Given the description of an element on the screen output the (x, y) to click on. 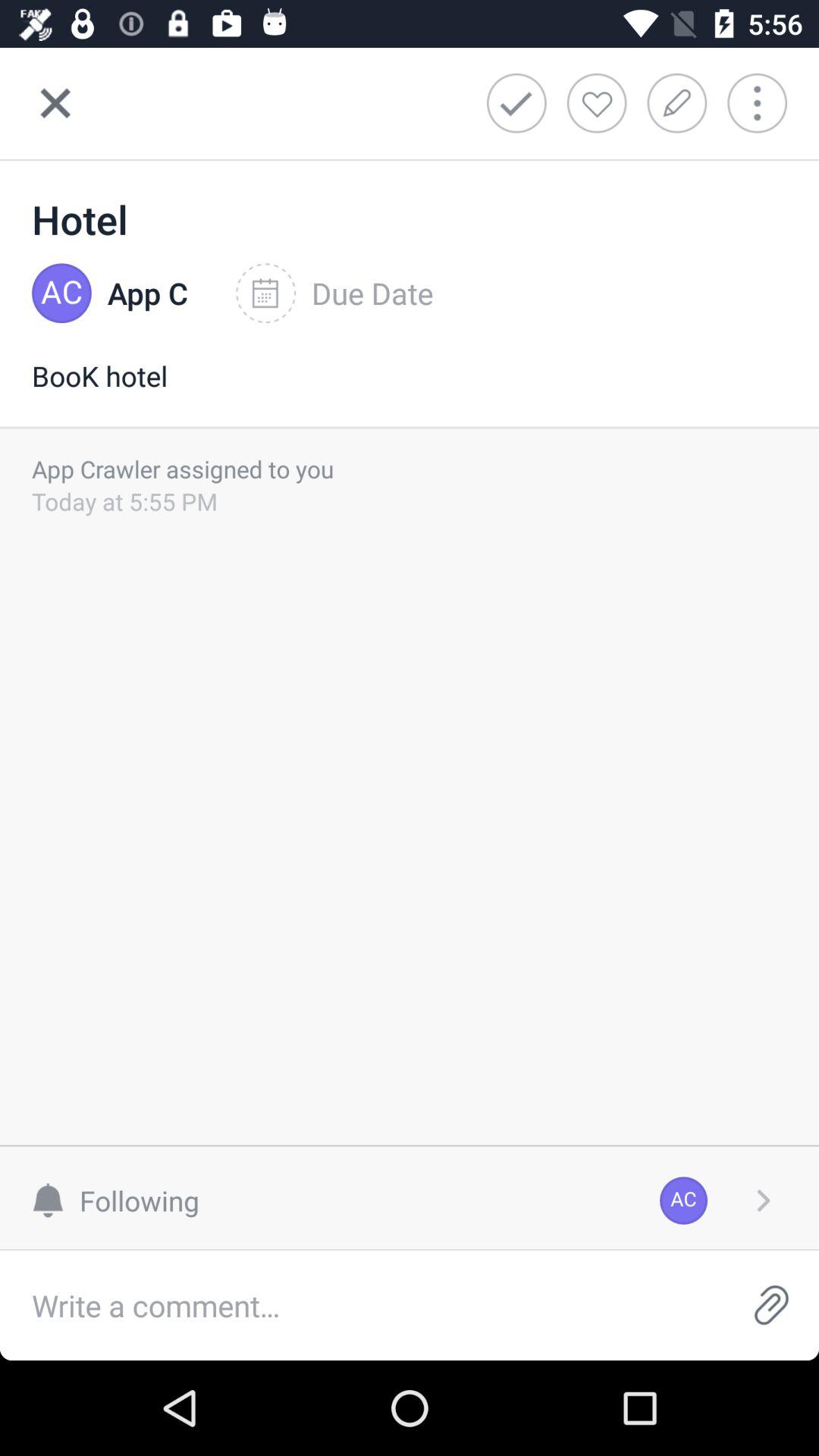
tap the item to the left of the ac item (123, 1200)
